Given the description of an element on the screen output the (x, y) to click on. 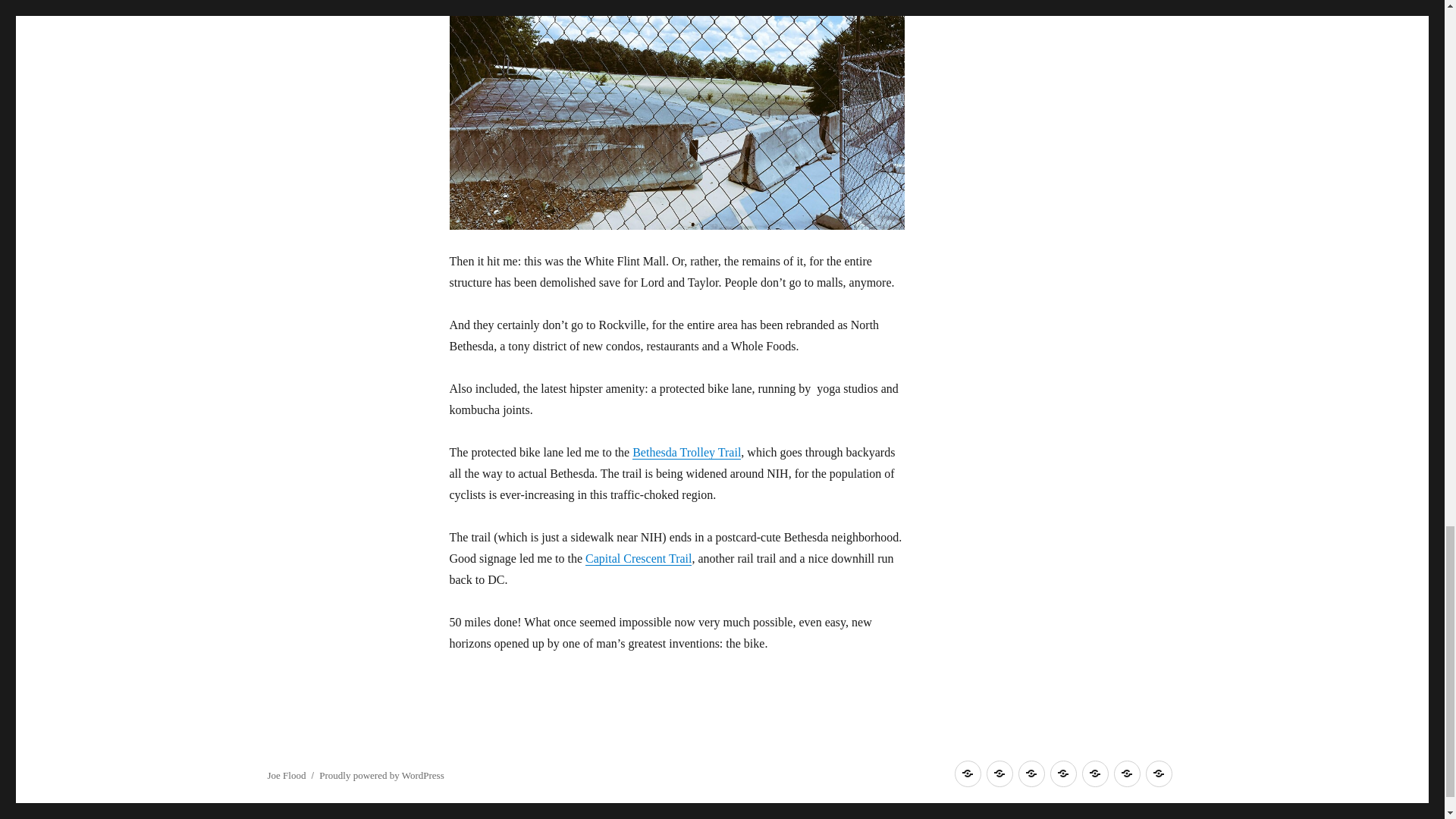
Capital Crescent Trail (638, 558)
remains of the White Flint Mall (676, 115)
Bethesda Trolley Trail (686, 451)
